Given the description of an element on the screen output the (x, y) to click on. 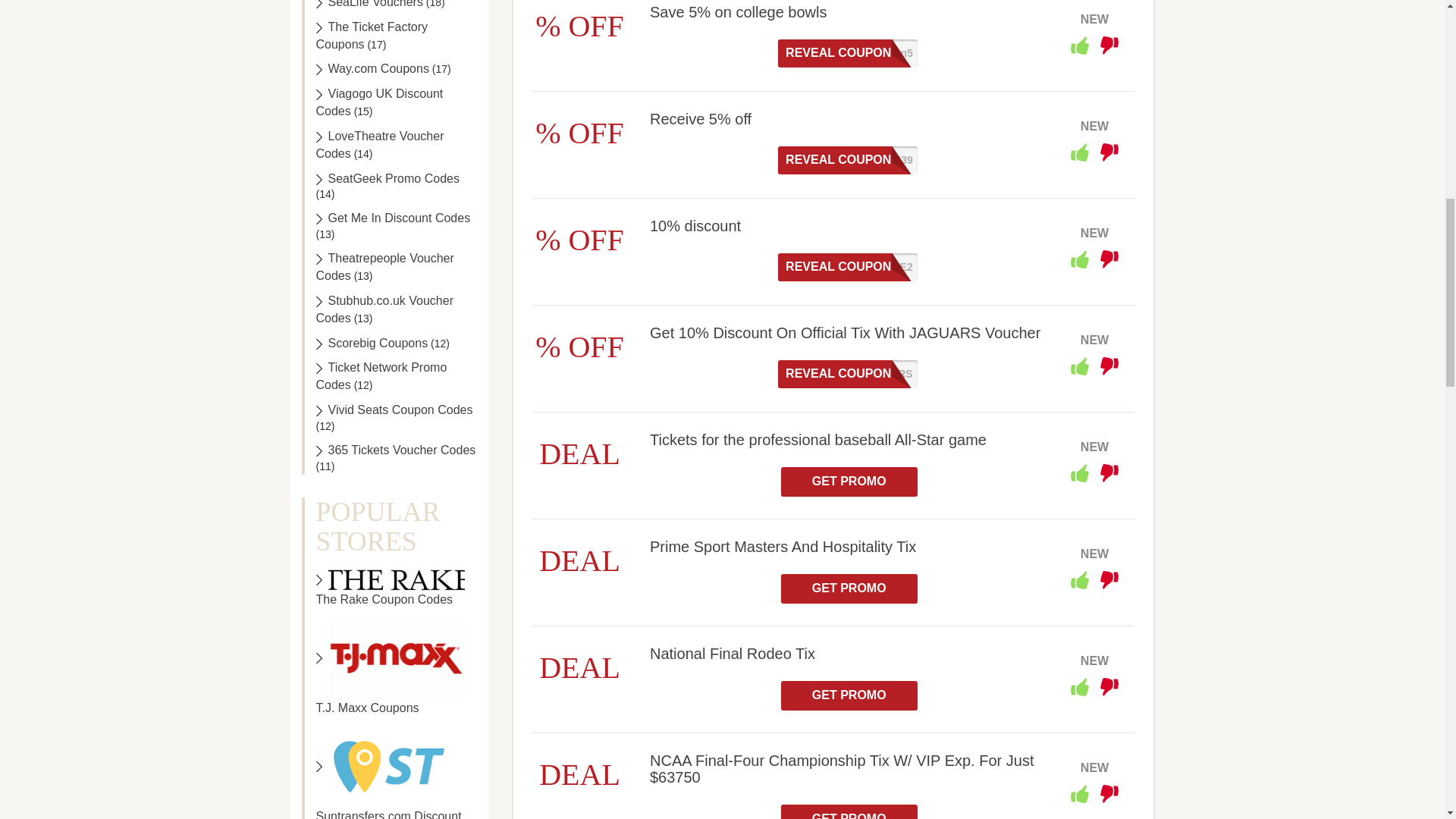
GET PROMO (848, 695)
Viagogo UK Discount Codes (378, 101)
REVEAL COUPON (847, 267)
LoveTheatre Voucher Codes (379, 144)
GET PROMO (848, 811)
GET PROMO (848, 481)
REVEAL COUPON (847, 53)
REVEAL COUPON (847, 160)
Theatrepeople Voucher Codes (383, 266)
Get Me In Discount Codes (392, 217)
REVEAL COUPON (847, 374)
Way.com Coupons (371, 68)
The Ticket Factory Coupons (371, 35)
SeaLife Vouchers (368, 4)
GET PROMO (848, 588)
